Given the description of an element on the screen output the (x, y) to click on. 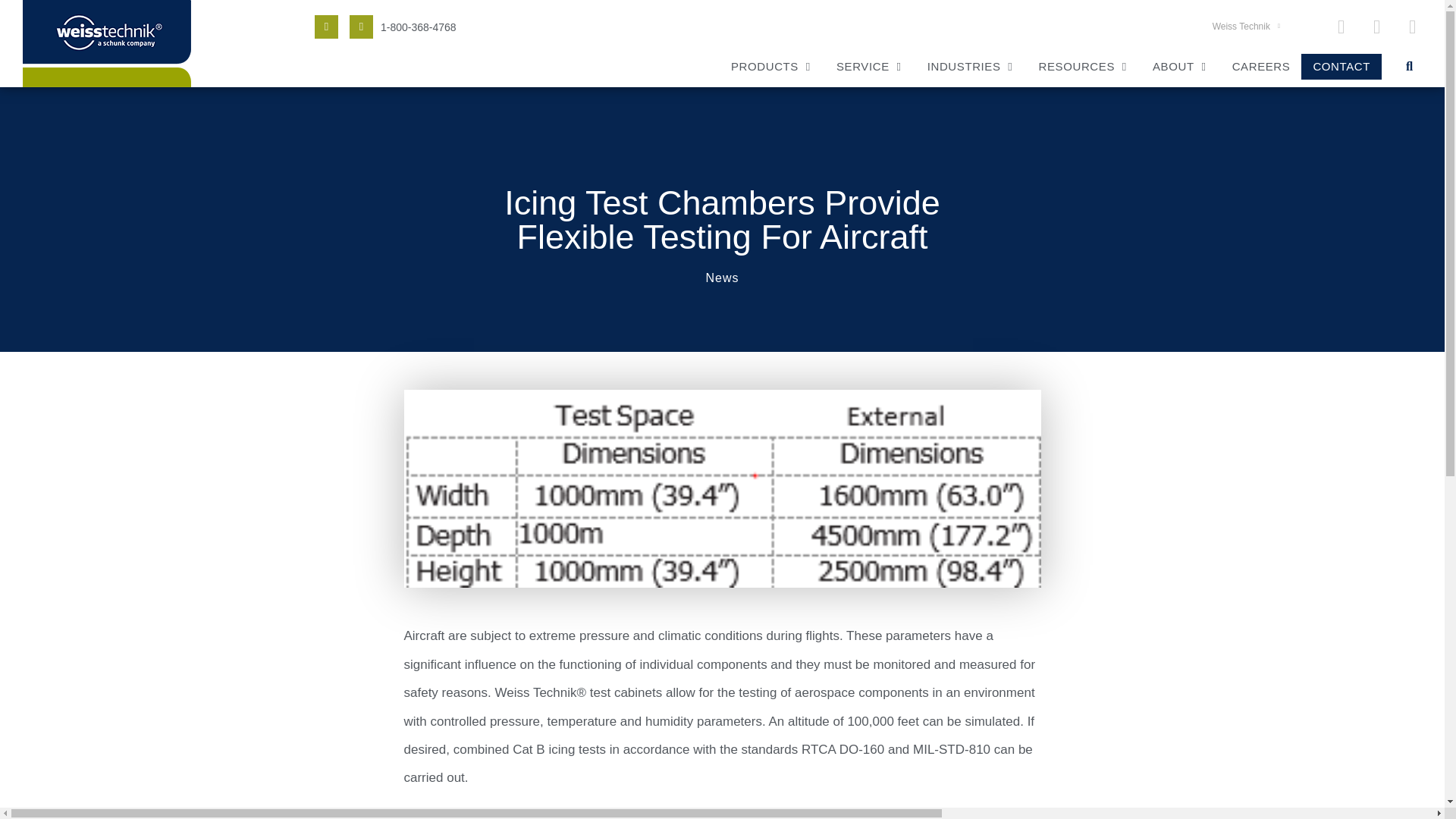
Weiss Technik (1245, 26)
1-800-368-4768 (418, 27)
PRODUCTS (763, 67)
